Given the description of an element on the screen output the (x, y) to click on. 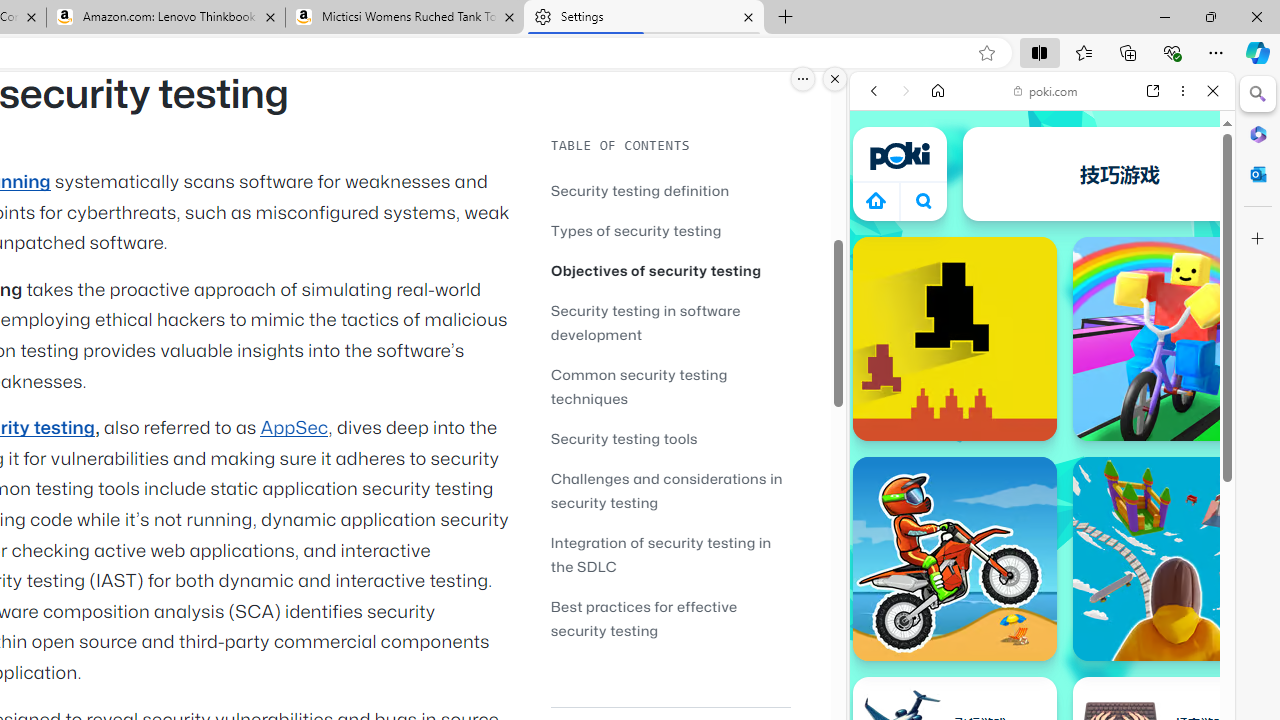
Car Games (1042, 469)
Level Devil (954, 338)
Io Games (1042, 617)
Security testing tools (623, 438)
Two Player Games (1042, 567)
Common security testing techniques (639, 385)
Show More Car Games (1164, 472)
Rainbow Obby (1174, 338)
Shooting Games (1042, 518)
Challenges and considerations in security testing (670, 489)
Challenges and considerations in security testing (666, 490)
